Given the description of an element on the screen output the (x, y) to click on. 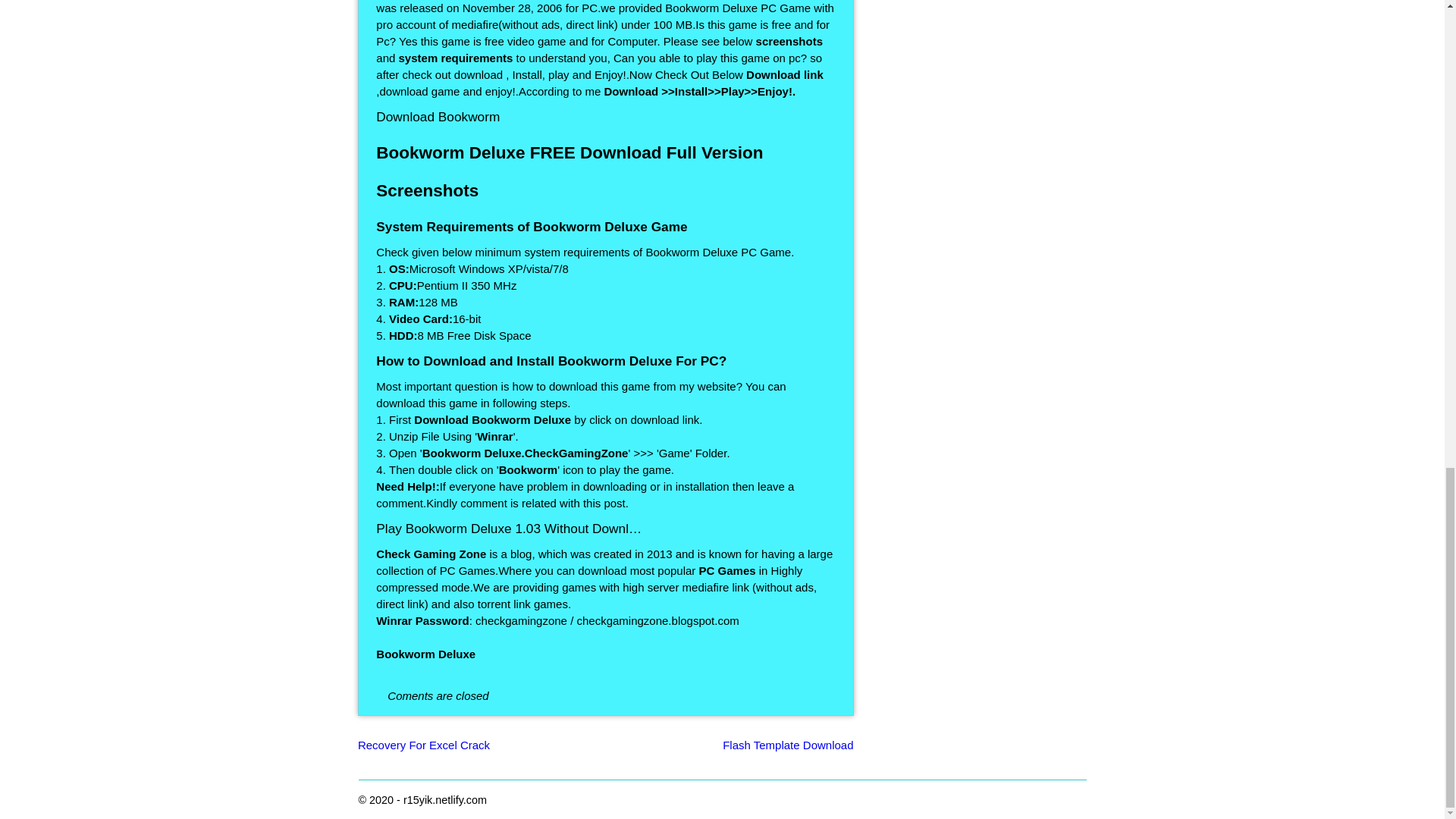
Recovery For Excel Crack (423, 744)
Flash Template Download (787, 744)
